Given the description of an element on the screen output the (x, y) to click on. 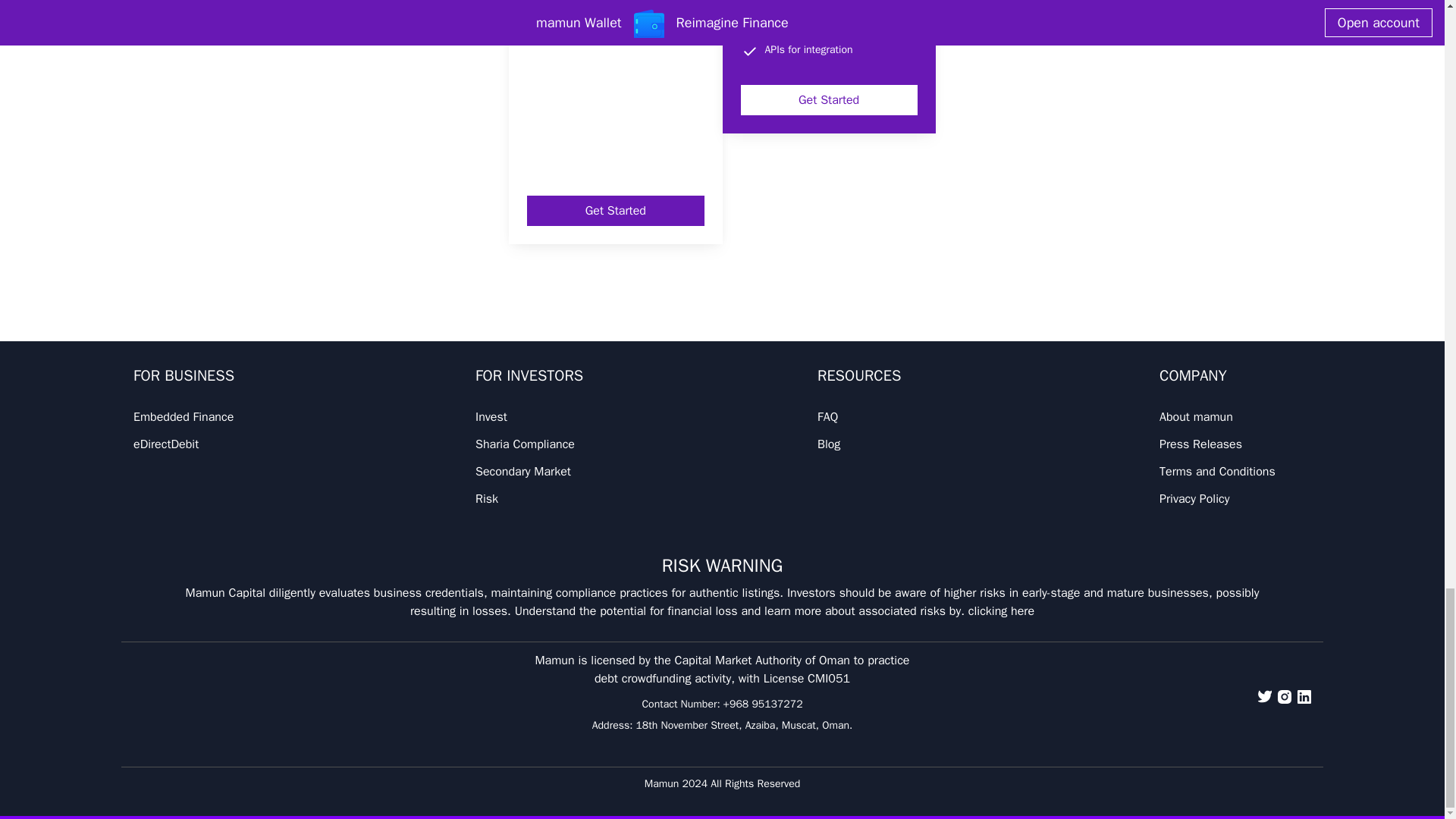
Our phone (763, 703)
Press Releases (1199, 444)
Sharia Compliance (525, 444)
Terms and Conditions (1216, 471)
Our address (742, 725)
FAQ (827, 417)
Privacy Policy (1193, 498)
eDirectDebit (165, 444)
clicking here (998, 611)
Secondary Market (523, 471)
